Given the description of an element on the screen output the (x, y) to click on. 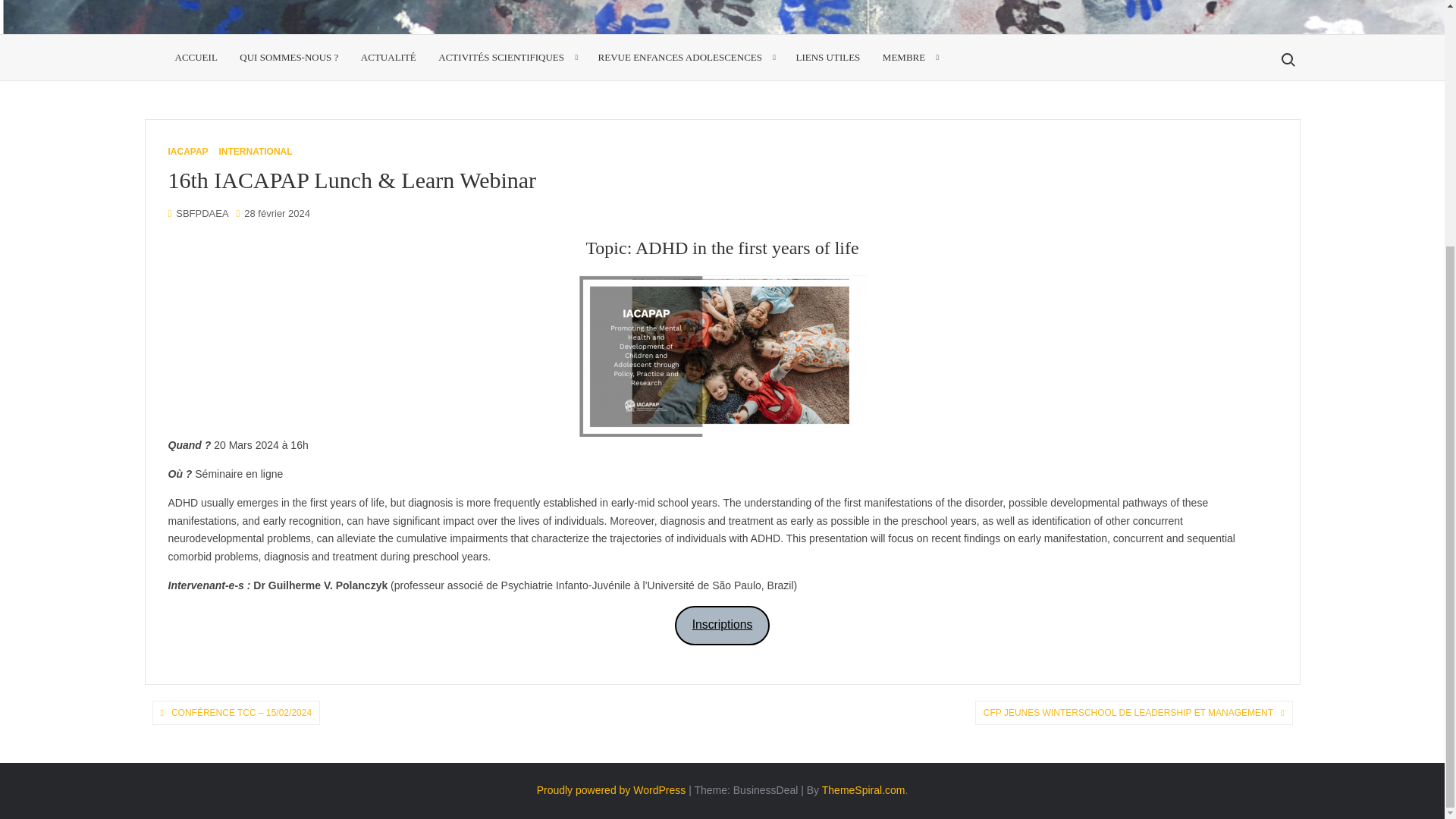
REVUE ENFANCES ADOLESCENCES (685, 57)
MEMBRE (908, 57)
LIENS UTILES (827, 57)
ACCUEIL (195, 57)
QUI SOMMES-NOUS ? (288, 57)
